Given the description of an element on the screen output the (x, y) to click on. 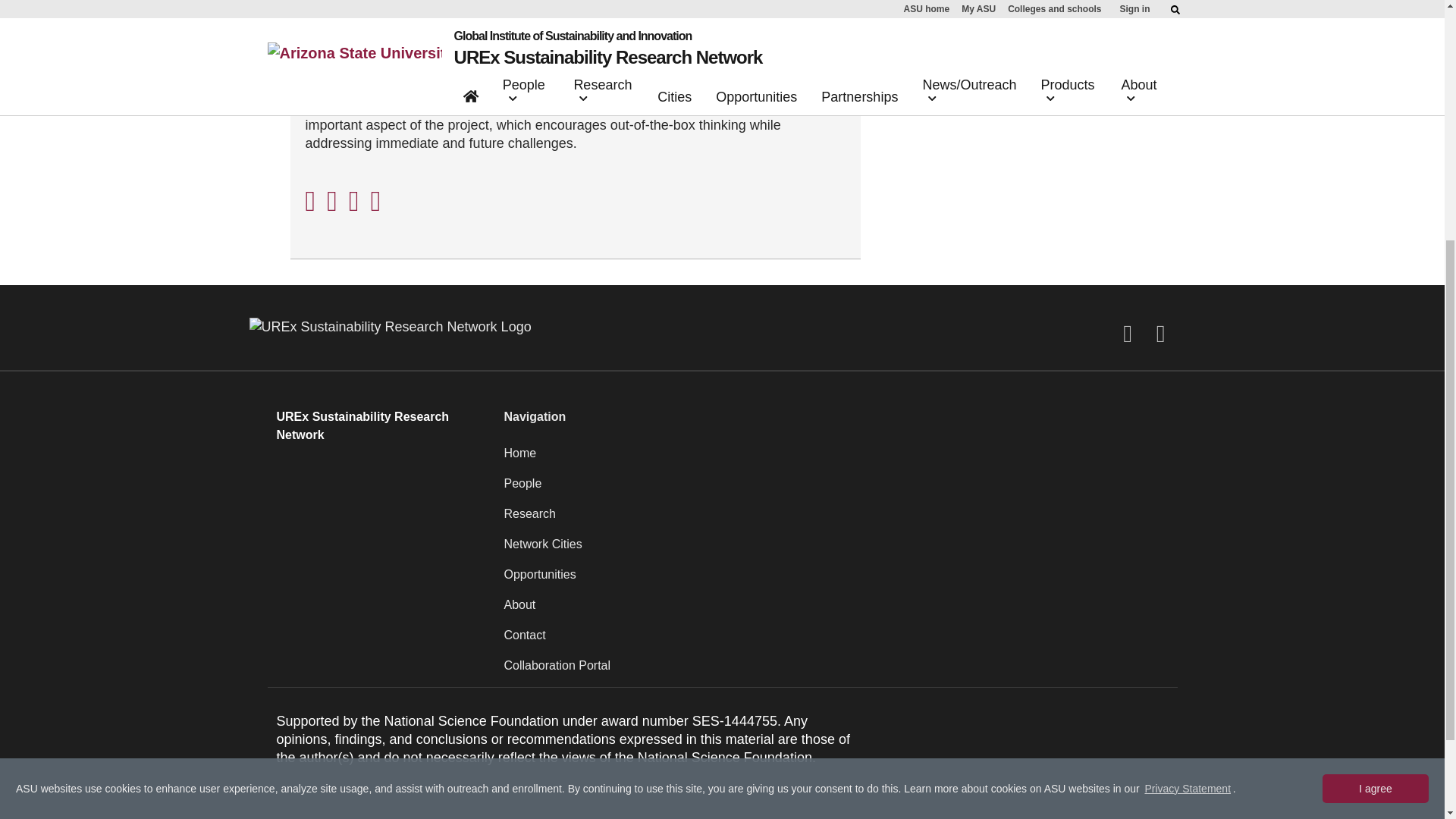
Collaboration Portal (835, 671)
Home (835, 459)
Email (376, 197)
Network Cities (835, 550)
Tweet (331, 197)
Share on Facebook (309, 197)
Share on LinkedIn (354, 197)
People (835, 490)
Contact (835, 641)
Research (835, 520)
I agree (1375, 412)
Privacy Statement (1187, 412)
About (835, 611)
Opportunities (835, 580)
